Given the description of an element on the screen output the (x, y) to click on. 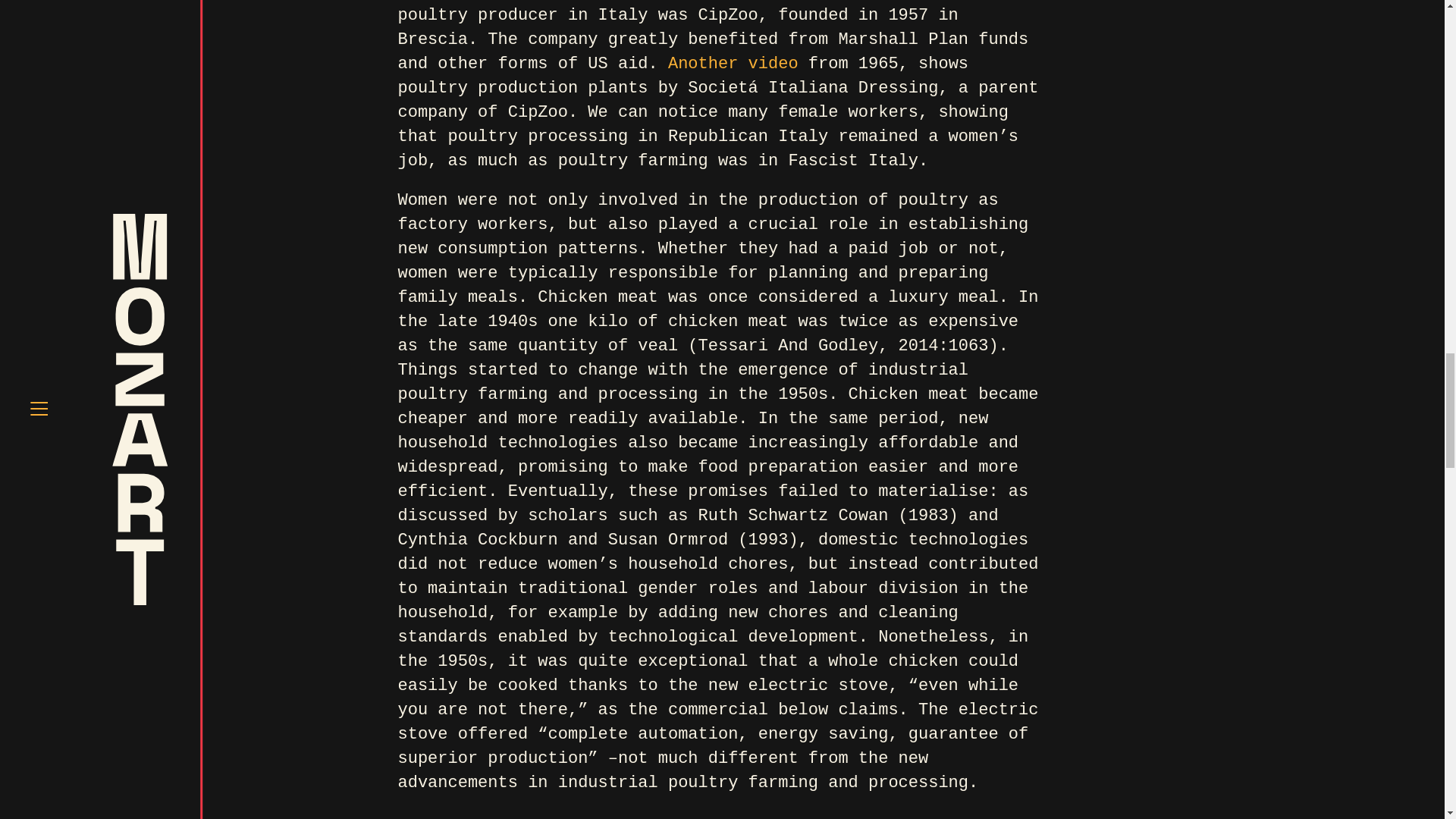
Another video (732, 63)
